Given the description of an element on the screen output the (x, y) to click on. 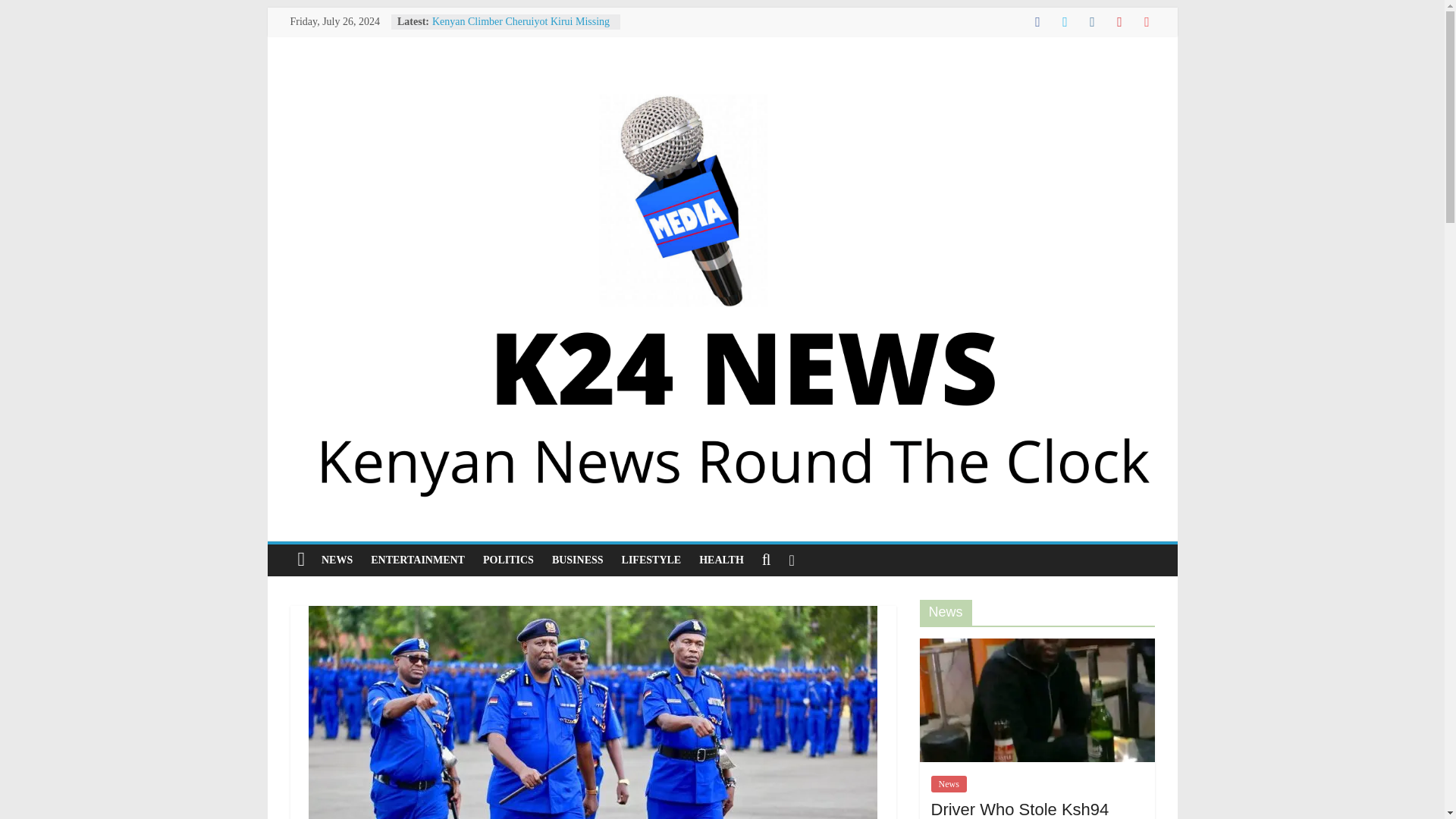
BUSINESS (577, 560)
POLITICS (508, 560)
LIFESTYLE (651, 560)
NEWS (337, 560)
ENTERTAINMENT (417, 560)
HEALTH (721, 560)
Kenyan Climber Cheruiyot Kirui Missing in Mt Everest (521, 28)
Kenyan Climber Cheruiyot Kirui Missing in Mt Everest (521, 28)
